Given the description of an element on the screen output the (x, y) to click on. 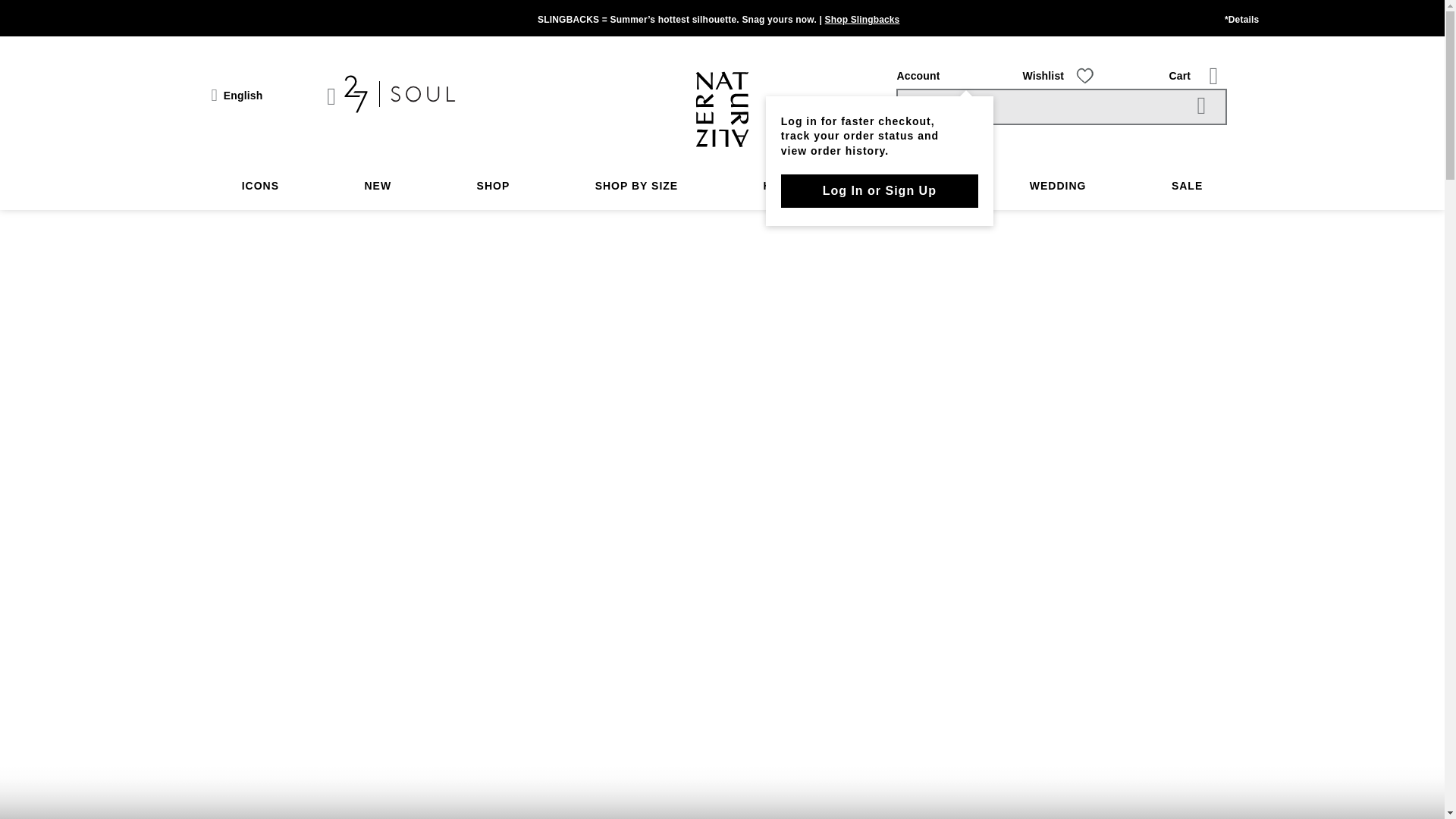
Insert a query. Press enter to send (1061, 106)
Shop Slingbacks (862, 19)
Account (917, 75)
English (236, 95)
Wishlist (1043, 75)
Log In or Sign Up (879, 191)
Cart (1180, 75)
